Given the description of an element on the screen output the (x, y) to click on. 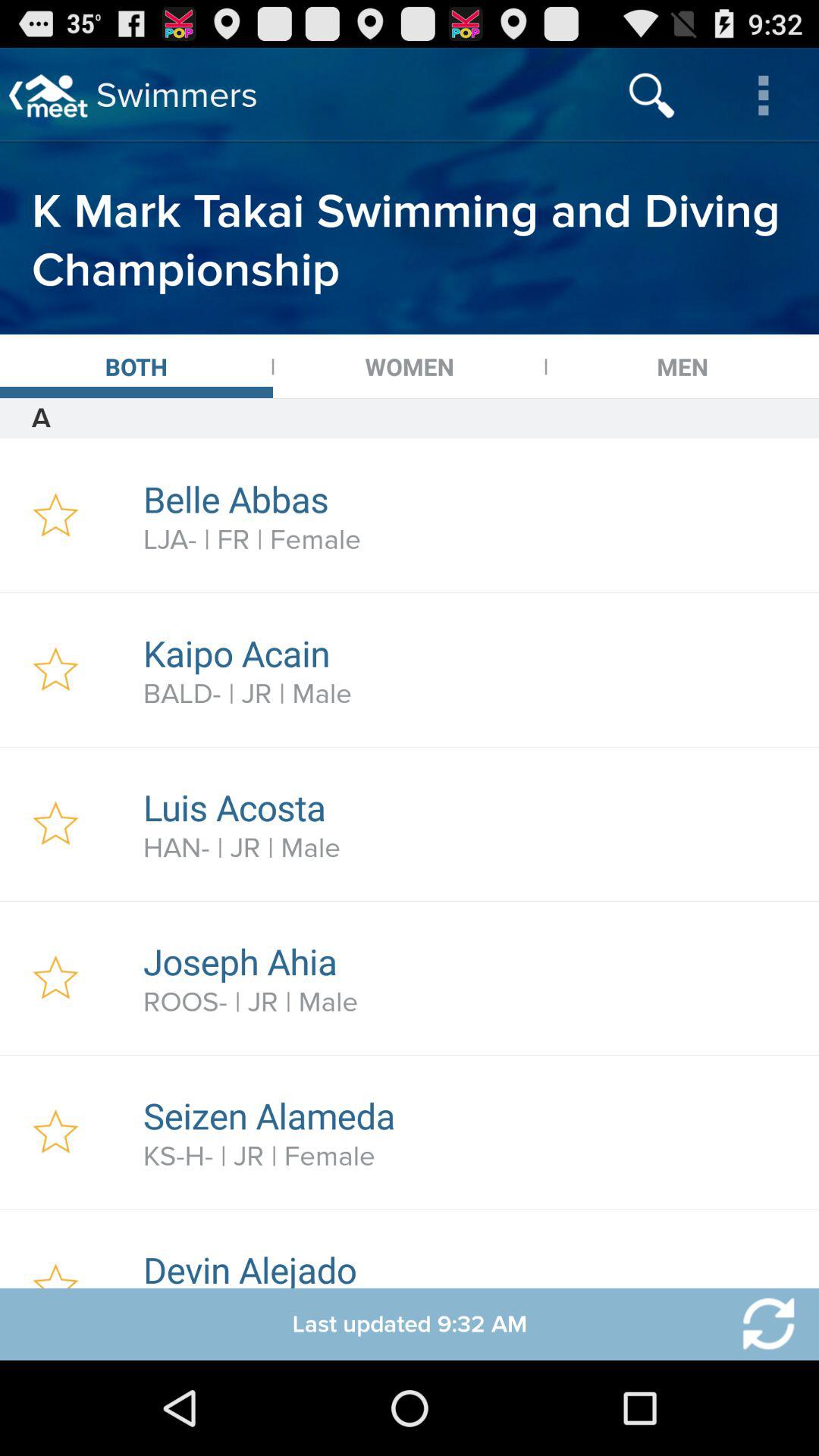
turn on icon below the k mark takai item (136, 366)
